Given the description of an element on the screen output the (x, y) to click on. 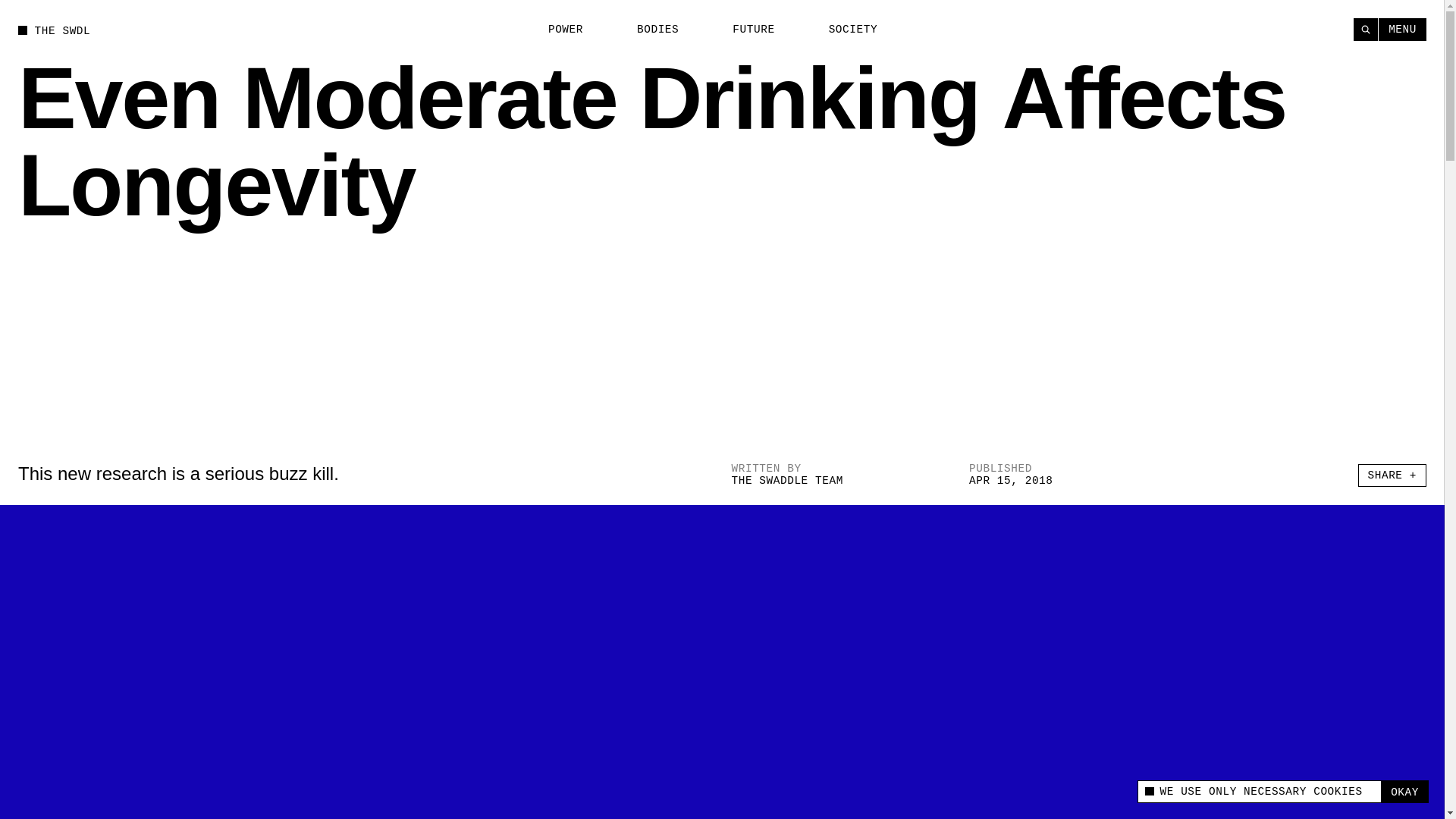
SOCIETY (843, 29)
FUTURE (744, 29)
THE SWADDLE TEAM (786, 480)
THE SWDL (53, 29)
MENU (1402, 29)
BODIES (649, 29)
OKAY (1404, 791)
WE USE ONLY NECESSARY COOKIES (1259, 791)
POWER (557, 29)
